Given the description of an element on the screen output the (x, y) to click on. 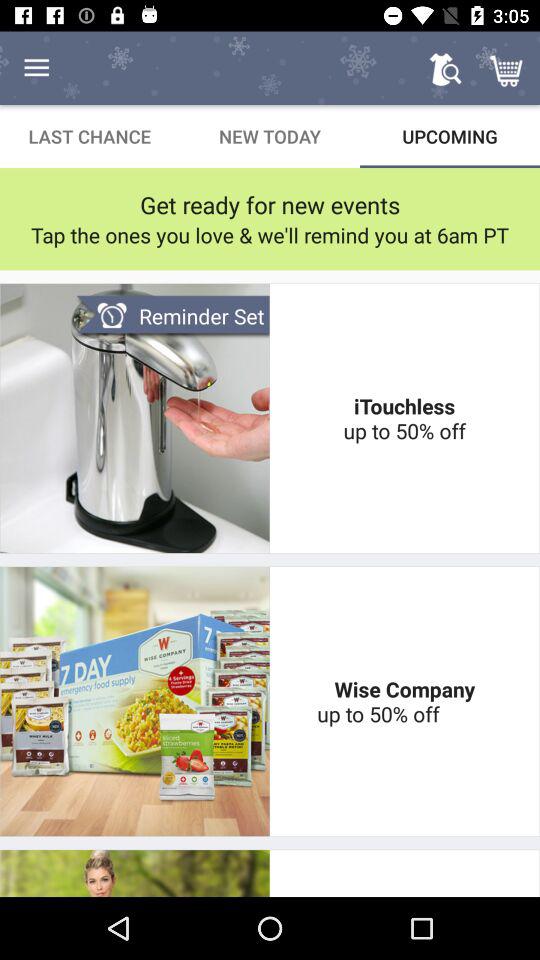
turn off the icon to the left of itouchless up to icon (171, 316)
